Given the description of an element on the screen output the (x, y) to click on. 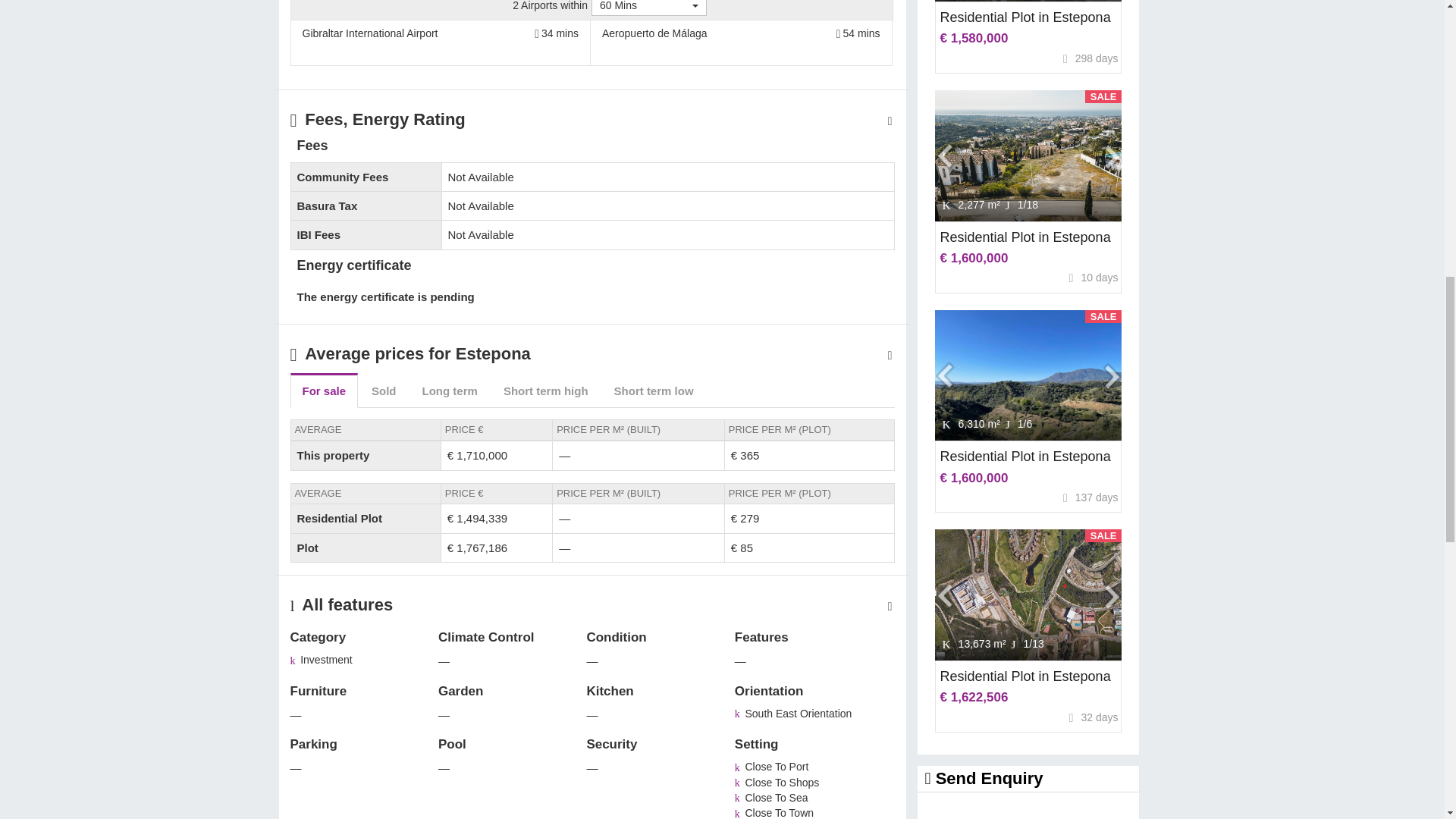
Short term high (545, 390)
Sold (384, 390)
Long term (449, 390)
60 Mins (648, 7)
For sale (323, 390)
